Given the description of an element on the screen output the (x, y) to click on. 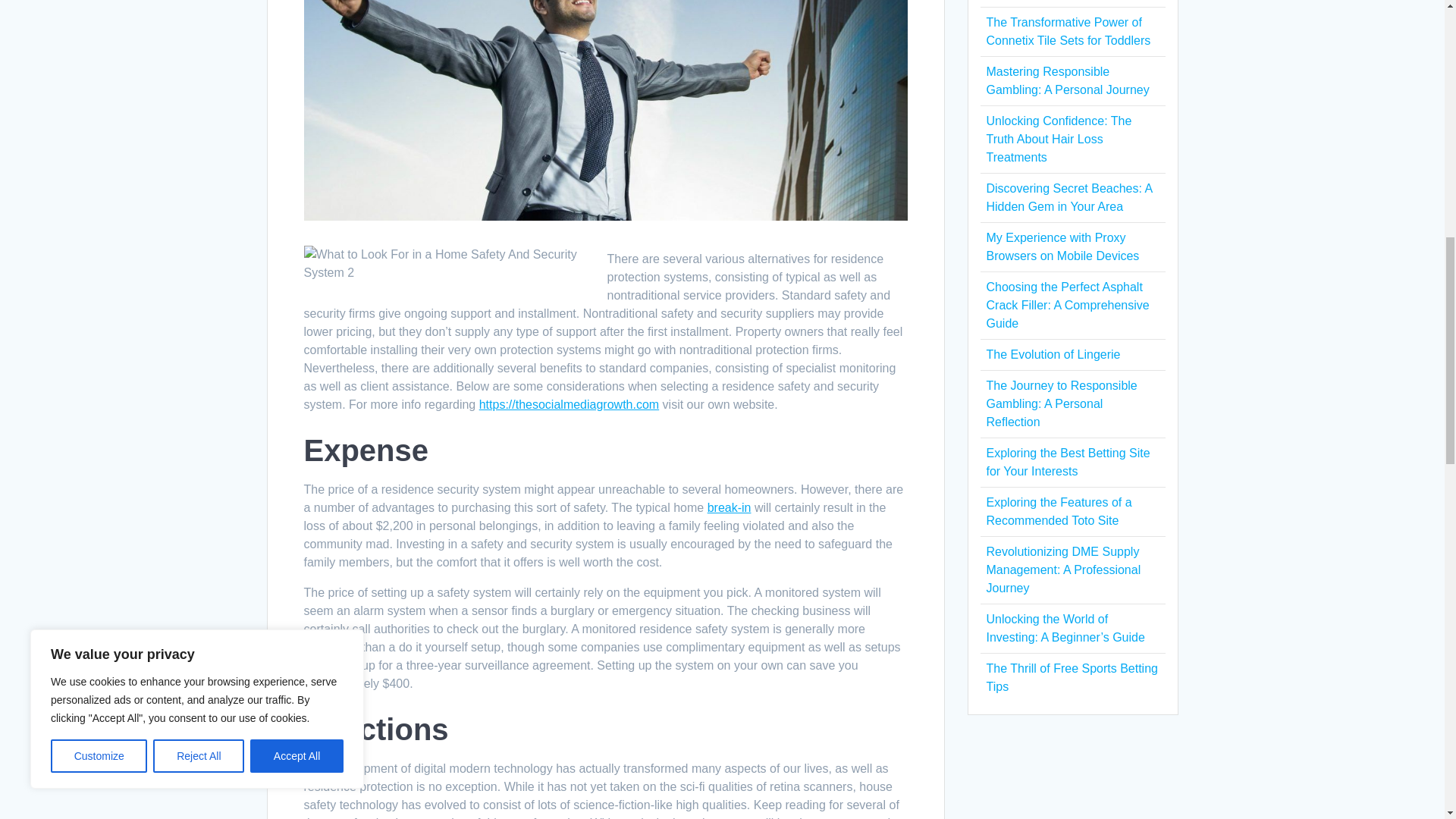
Discovering Secret Beaches: A Hidden Gem in Your Area (1068, 196)
Mastering Responsible Gambling: A Personal Journey (1066, 80)
break-in (729, 507)
Unlocking Confidence: The Truth About Hair Loss Treatments (1058, 138)
The Transformative Power of Connetix Tile Sets for Toddlers (1067, 30)
My Experience with Proxy Browsers on Mobile Devices (1061, 246)
